Given the description of an element on the screen output the (x, y) to click on. 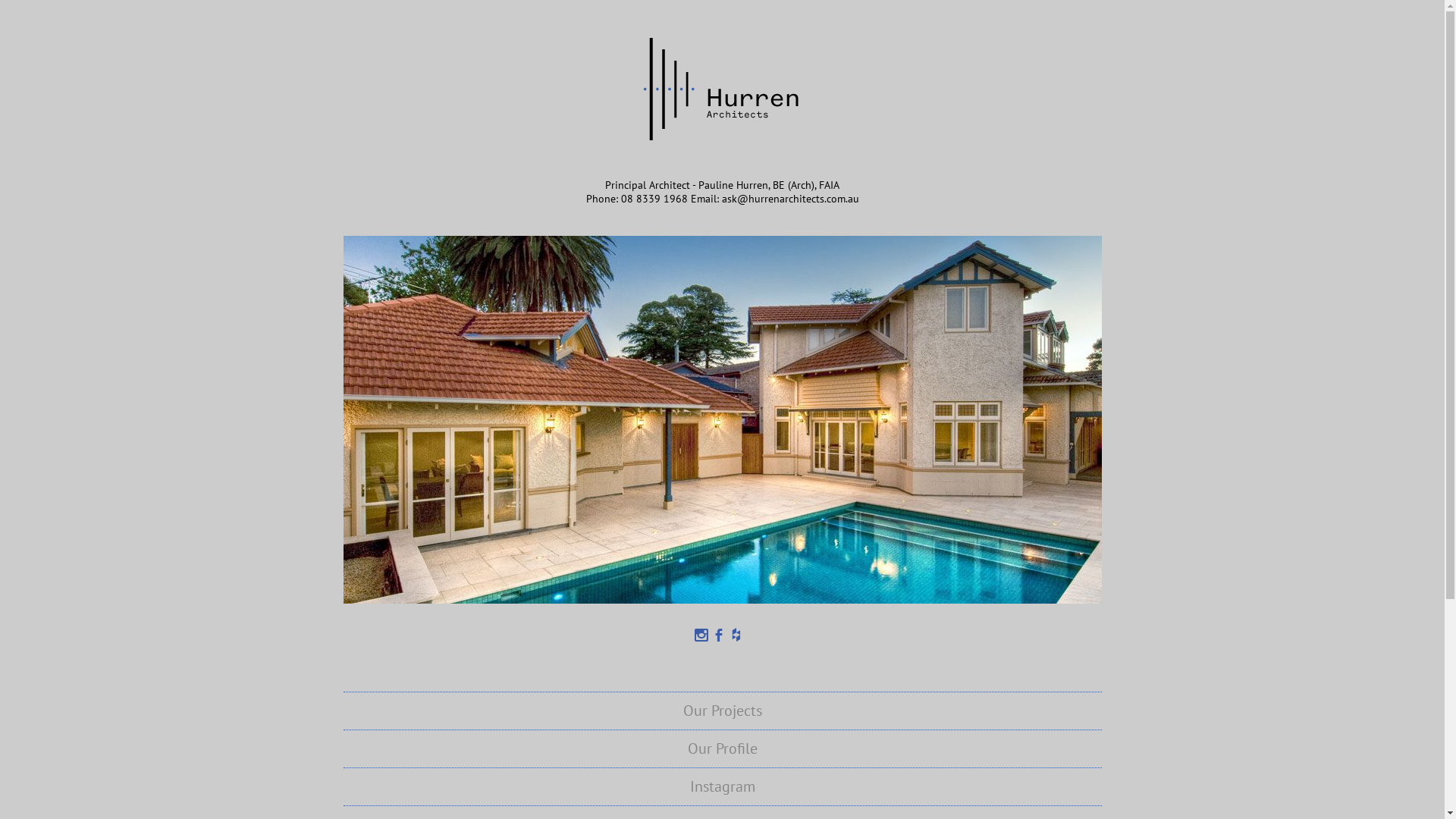
x Element type: text (703, 635)
Our Projects Element type: text (721, 710)
b Element type: text (719, 635)
Our Profile Element type: text (721, 748)
Instagram Element type: text (721, 786)
+ Element type: text (736, 635)
